Given the description of an element on the screen output the (x, y) to click on. 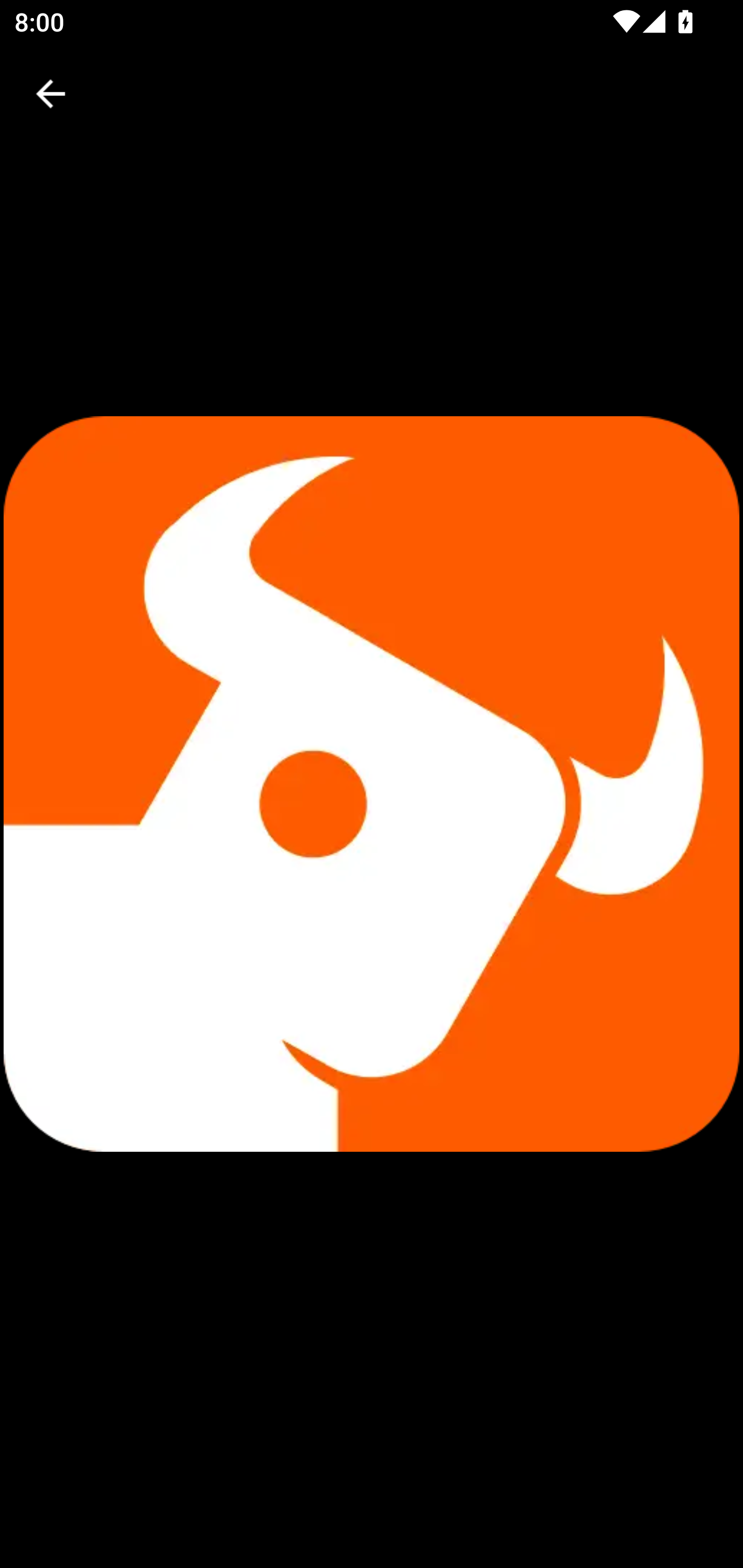
Back (50, 93)
